Given the description of an element on the screen output the (x, y) to click on. 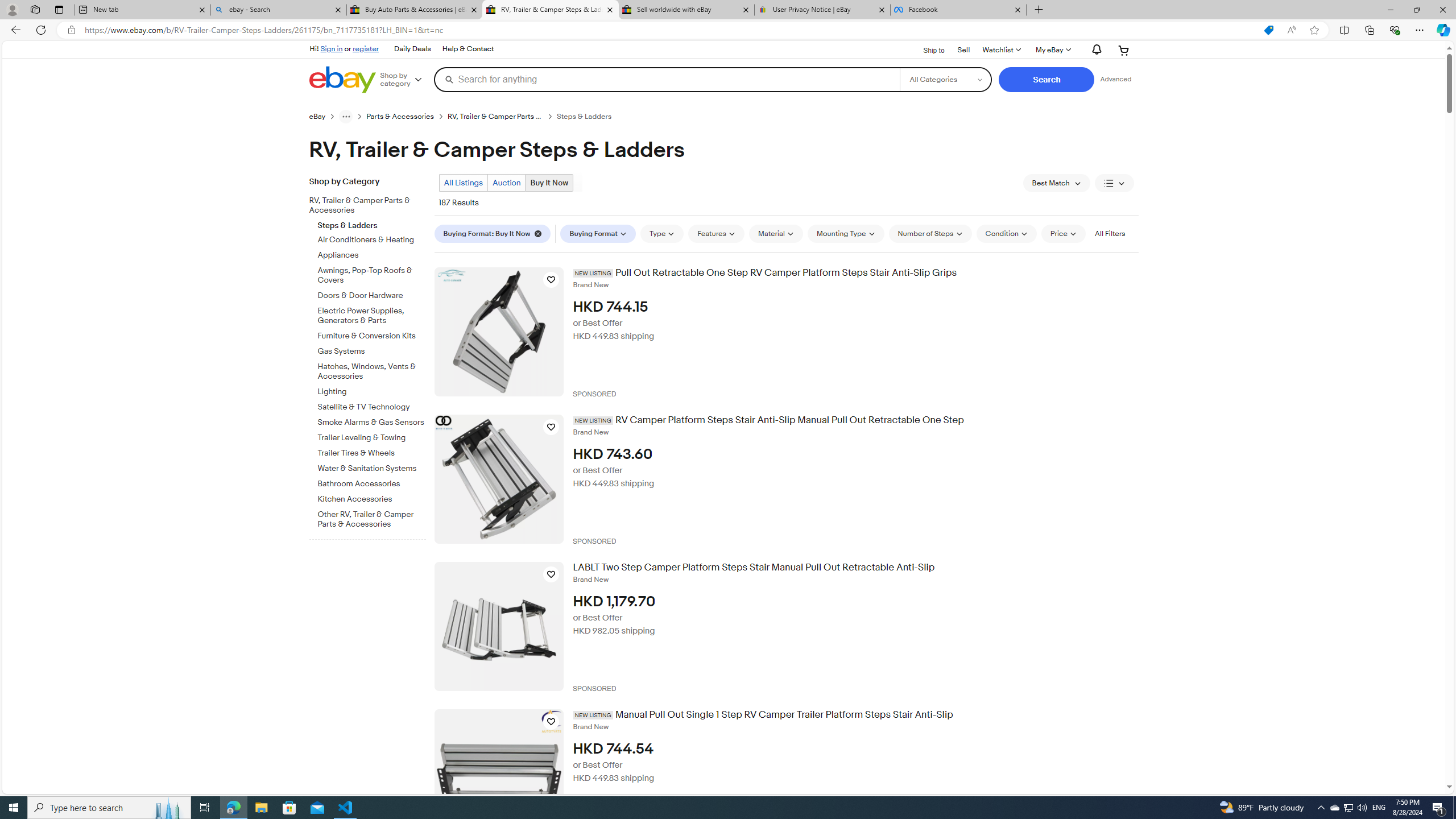
WatchlistExpand Watch List (1000, 49)
Trailer Tires & Wheels (371, 452)
AutomationID: gh-eb-Alerts (1094, 49)
Electric Power Supplies, Generators & Parts (371, 313)
Satellite & TV Technology (371, 407)
Electric Power Supplies, Generators & Parts (371, 316)
Sell (963, 49)
My eBayExpand My eBay (1052, 49)
Air Conditioners & Heating (371, 237)
All Listings (463, 182)
Buy It Now (549, 182)
Daily Deals (412, 49)
Other RV, Trailer & Camper Parts & Accessories (371, 519)
